Given the description of an element on the screen output the (x, y) to click on. 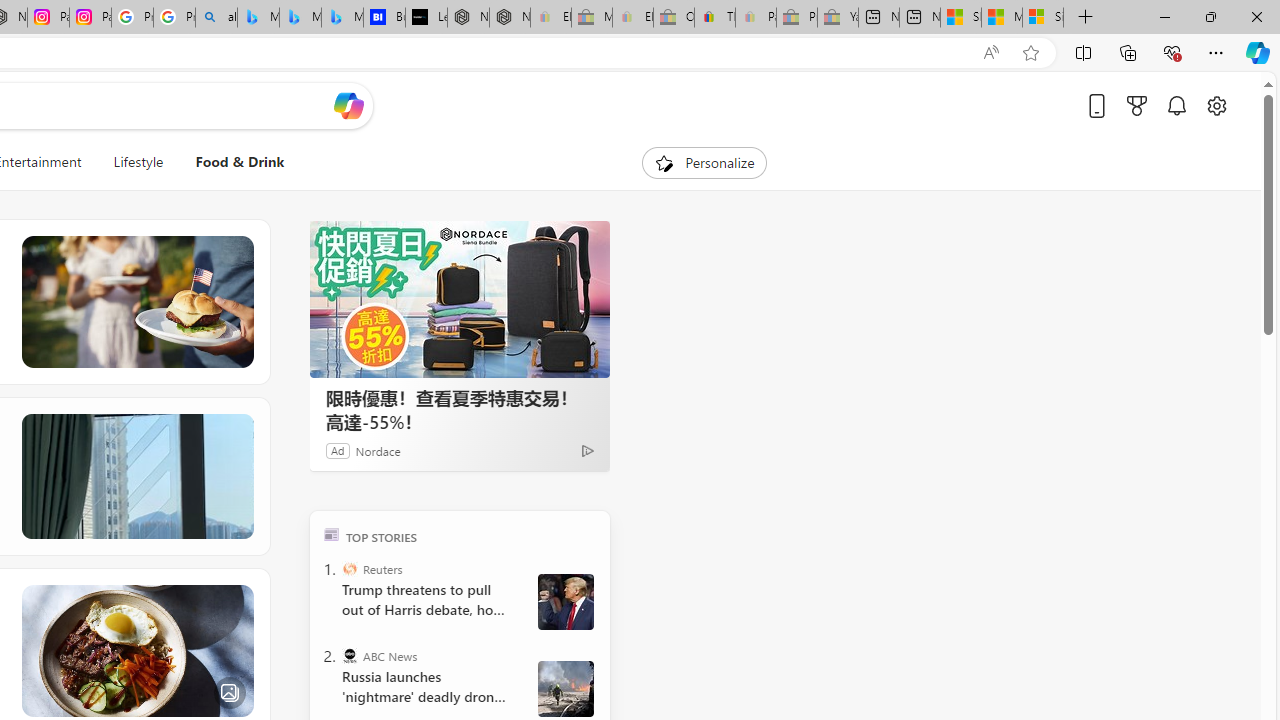
alabama high school quarterback dies - Search (215, 17)
Microsoft Bing Travel - Flights from Hong Kong to Bangkok (258, 17)
Lifestyle (137, 162)
Burger with Mmerican flag pick on top (136, 301)
Payments Terms of Use | eBay.com - Sleeping (755, 17)
Microsoft Bing Travel - Shangri-La Hotel Bangkok (342, 17)
